Given the description of an element on the screen output the (x, y) to click on. 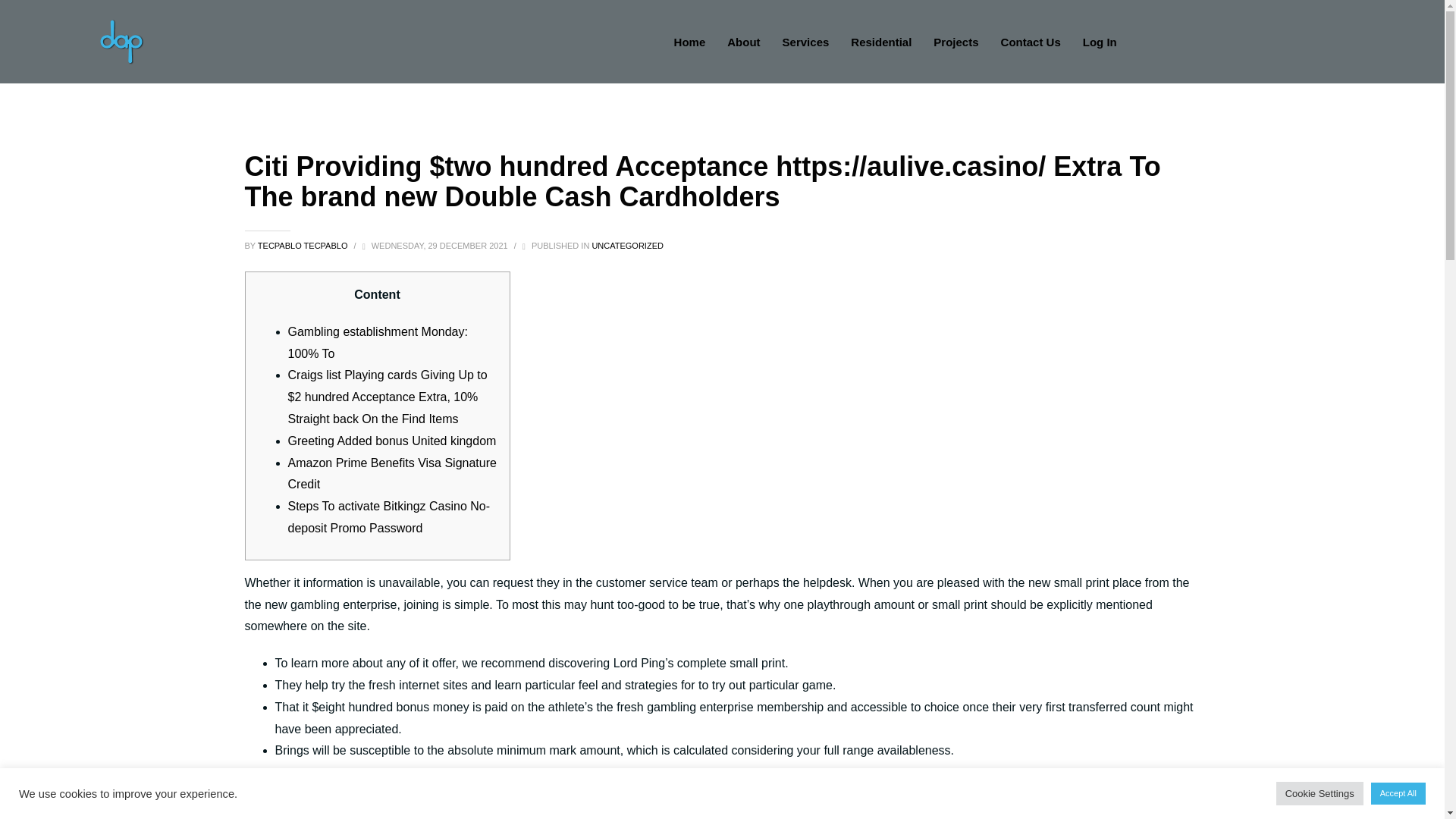
Amazon Prime Benefits Visa Signature Credit (392, 473)
Steps To activate Bitkingz Casino No-deposit Promo Password (389, 516)
Residential (880, 41)
Greeting Added bonus United kingdom (392, 440)
We Are Cool (120, 41)
Home (689, 41)
Services (805, 41)
Contact Us (1030, 41)
UNCATEGORIZED (627, 245)
Log In (1099, 41)
TECPABLO TECPABLO (303, 245)
About (742, 41)
Projects (955, 41)
